Given the description of an element on the screen output the (x, y) to click on. 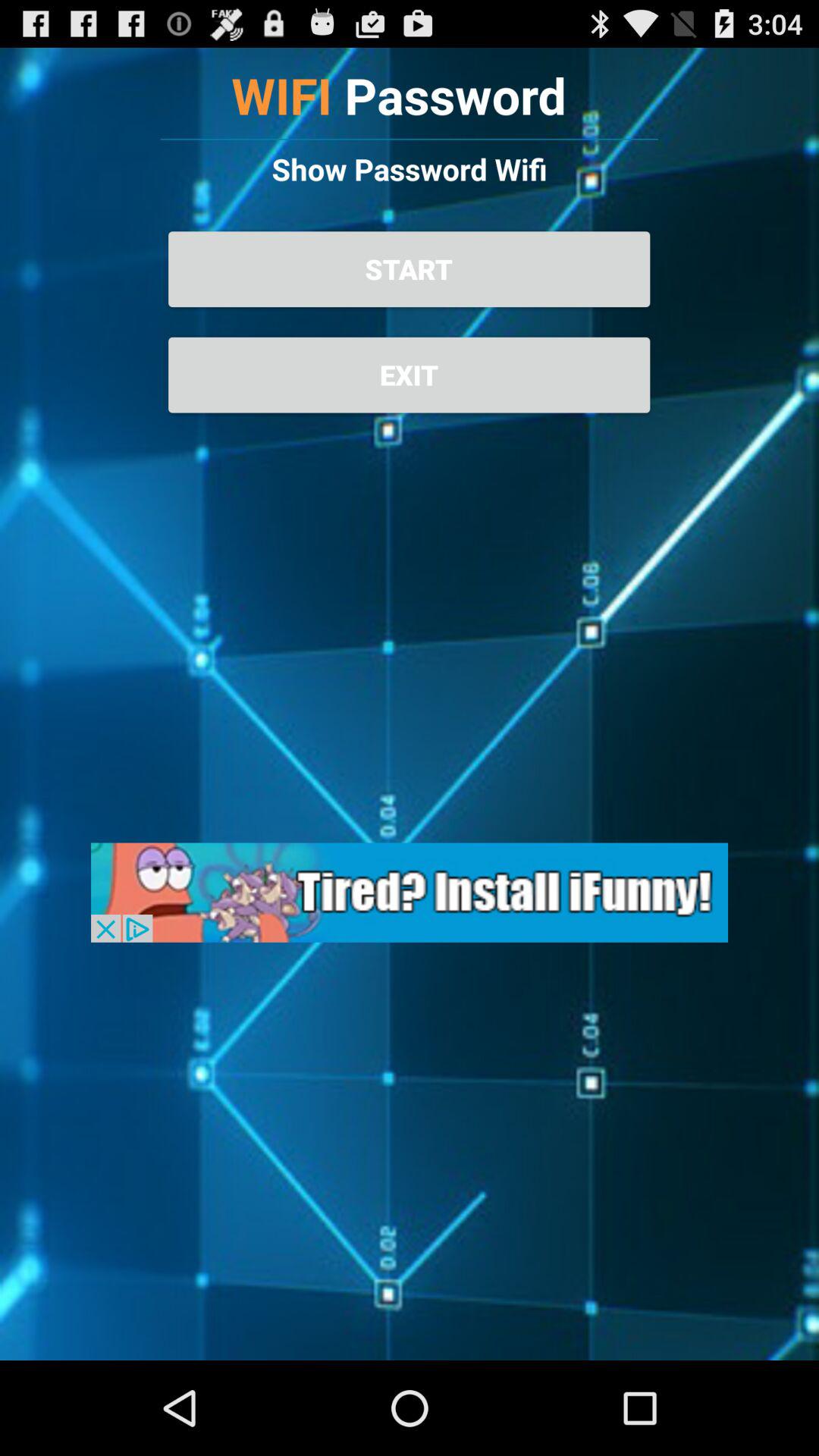
click advertisement (409, 892)
